Given the description of an element on the screen output the (x, y) to click on. 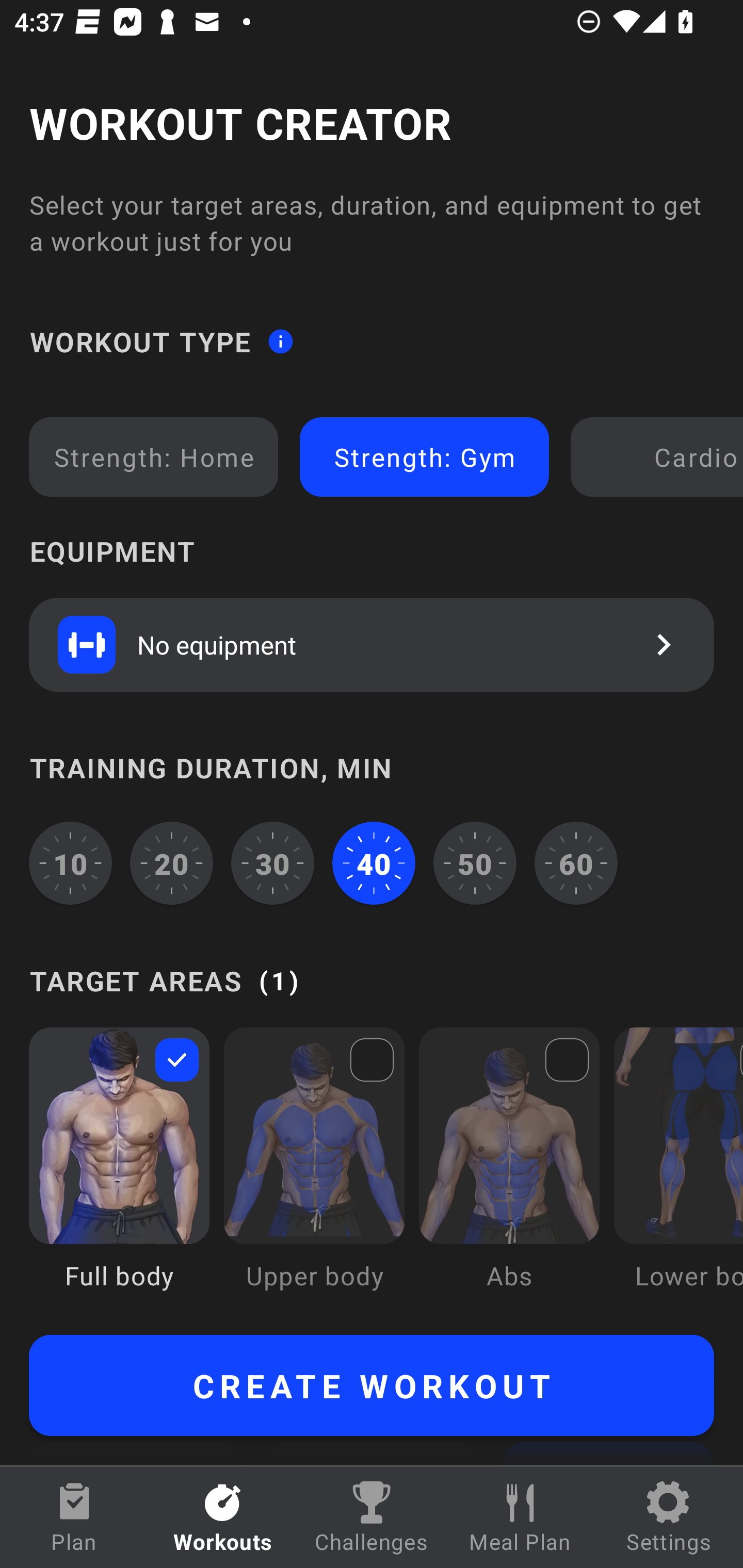
Workout type information button (280, 340)
Strength: Home (153, 457)
Cardio (660, 457)
No equipment (371, 644)
10 (70, 863)
20 (171, 863)
30 (272, 863)
40 (373, 863)
50 (474, 863)
60 (575, 863)
Upper body (313, 1172)
Abs (509, 1172)
Lower body (678, 1172)
CREATE WORKOUT (371, 1385)
 Plan  (74, 1517)
 Challenges  (371, 1517)
 Meal Plan  (519, 1517)
 Settings  (668, 1517)
